Given the description of an element on the screen output the (x, y) to click on. 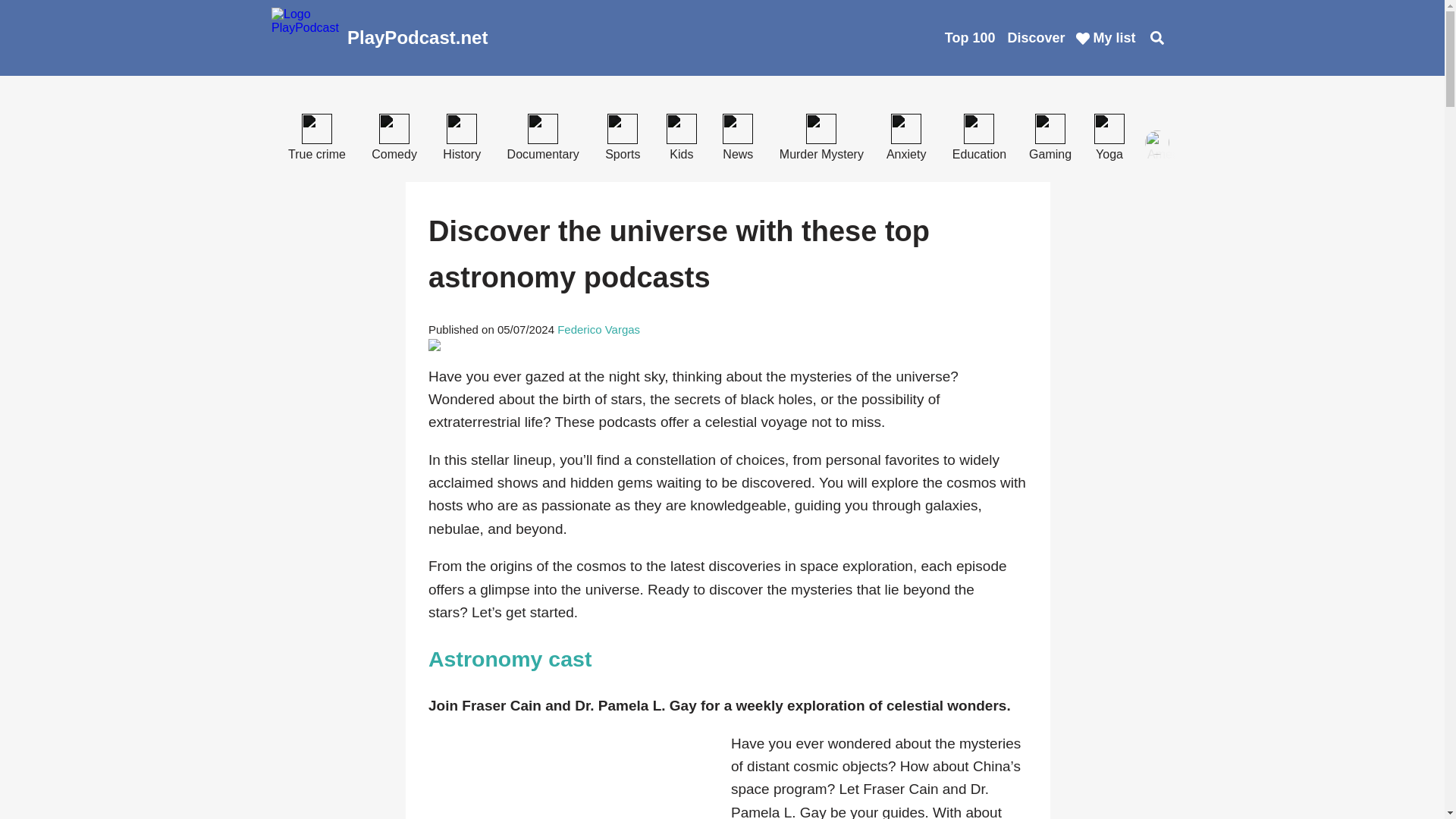
Kids (685, 154)
Sports (625, 154)
American football (1198, 154)
Murder Mystery (825, 154)
History (465, 154)
Education (983, 154)
Yoga (1113, 154)
Astronomy cast (509, 658)
Comedy (398, 154)
Posts by Federico Vargas (598, 328)
Gaming (1054, 154)
Anxiety (909, 154)
Federico Vargas (598, 328)
My list (1106, 37)
Documentary (546, 154)
